Given the description of an element on the screen output the (x, y) to click on. 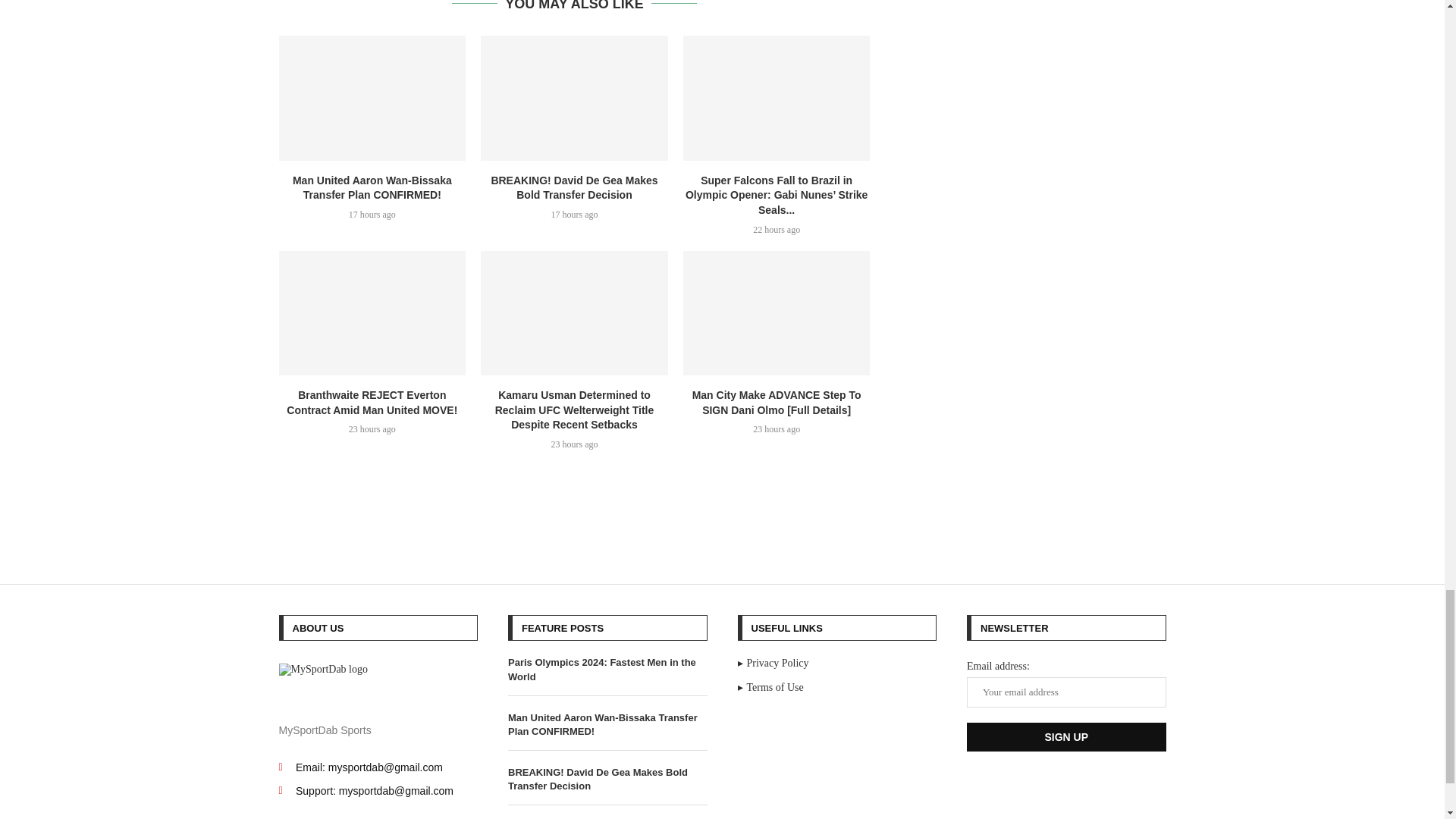
Sign up (1066, 736)
Man United Aaron Wan-Bissaka Transfer Plan CONFIRMED! (372, 97)
